Given the description of an element on the screen output the (x, y) to click on. 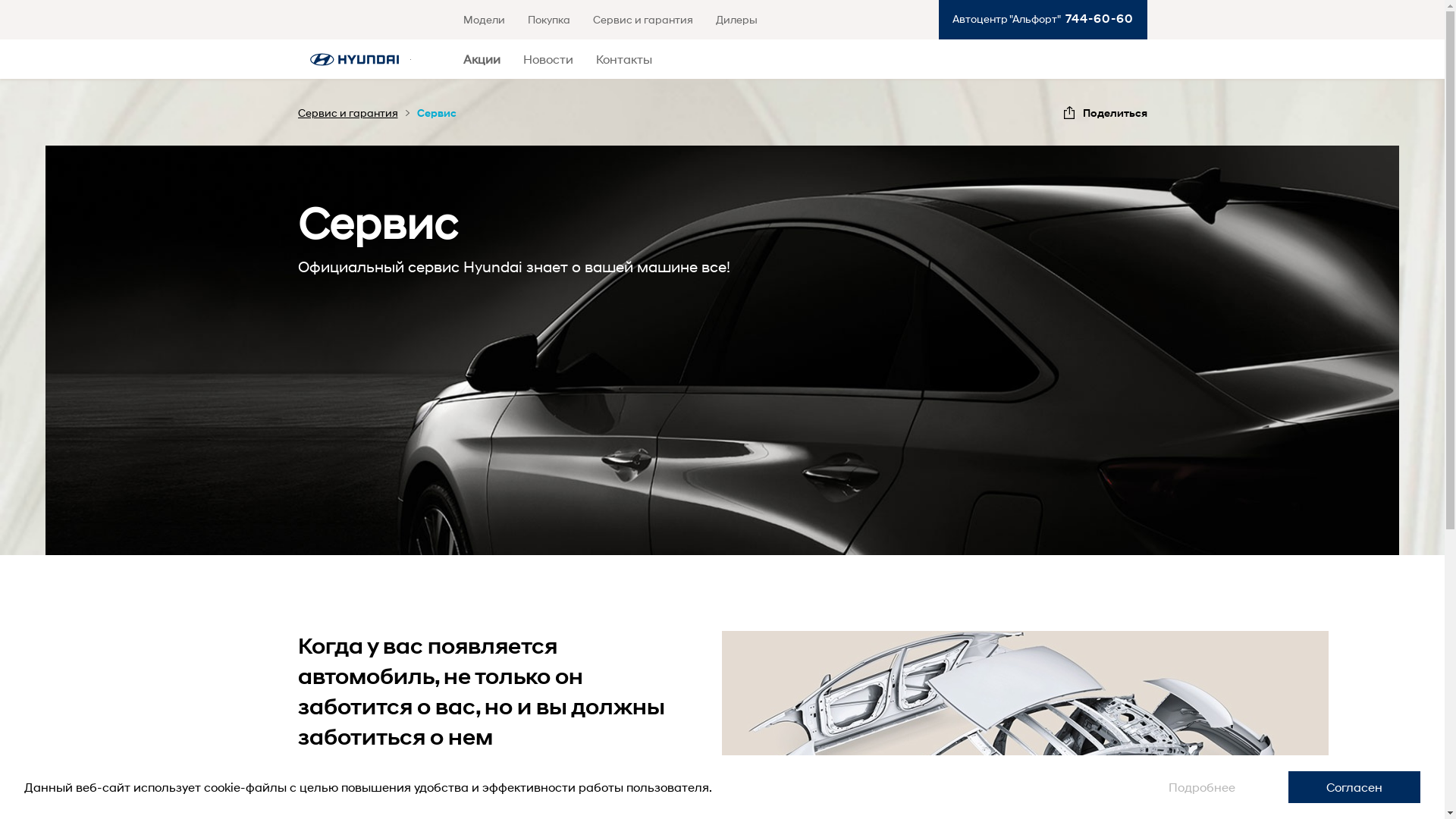
744-60-60 Element type: text (1096, 18)
